Given the description of an element on the screen output the (x, y) to click on. 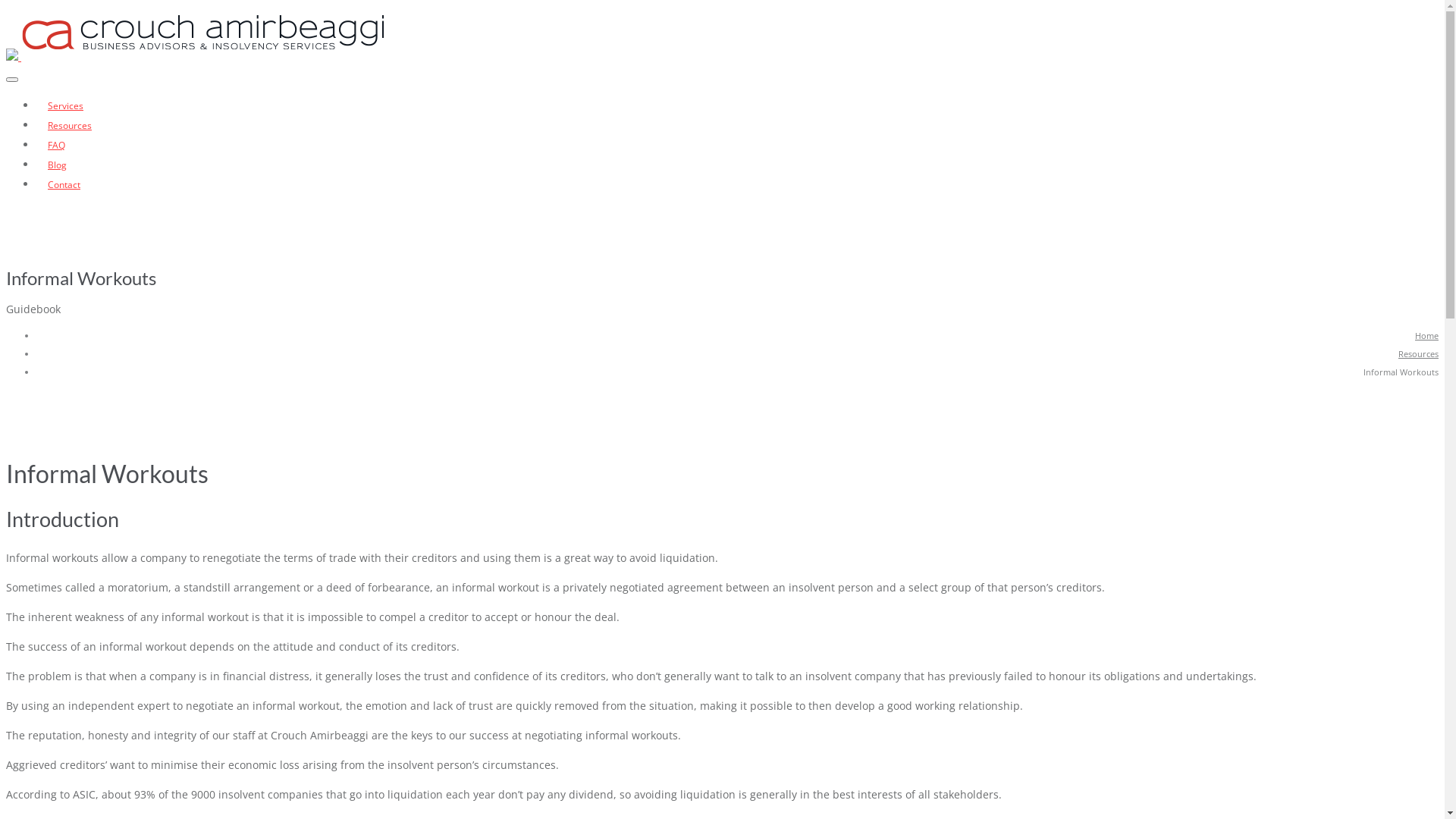
Services Element type: text (65, 105)
Resources Element type: text (1418, 353)
Resources Element type: text (69, 125)
Blog Element type: text (57, 164)
Contact Element type: text (63, 184)
FAQ Element type: text (56, 144)
Home Element type: text (1426, 335)
